Given the description of an element on the screen output the (x, y) to click on. 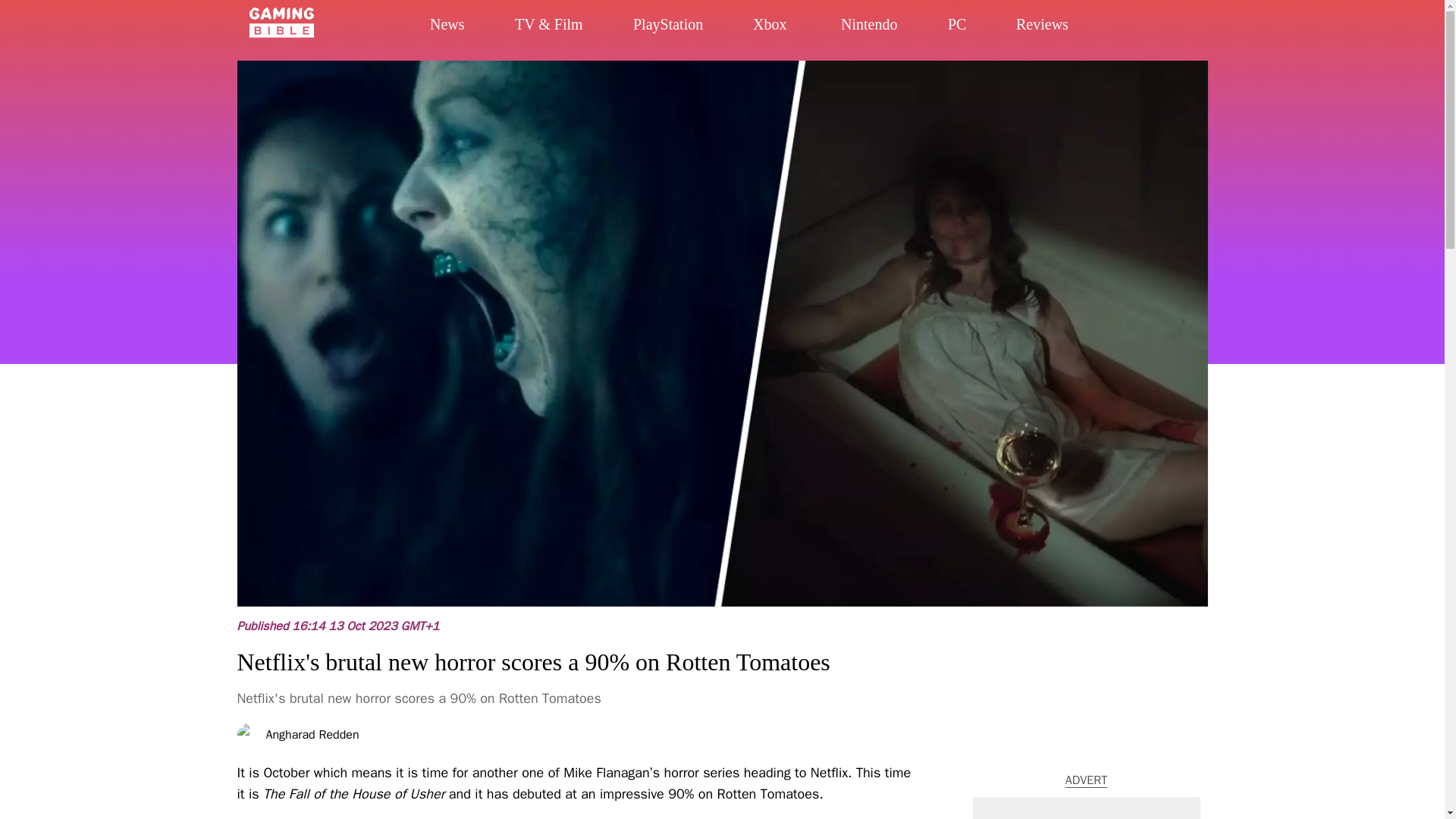
Nintendo (897, 32)
News (468, 28)
Xbox (786, 32)
PlayStation (703, 30)
Angharad Redden (311, 734)
